Given the description of an element on the screen output the (x, y) to click on. 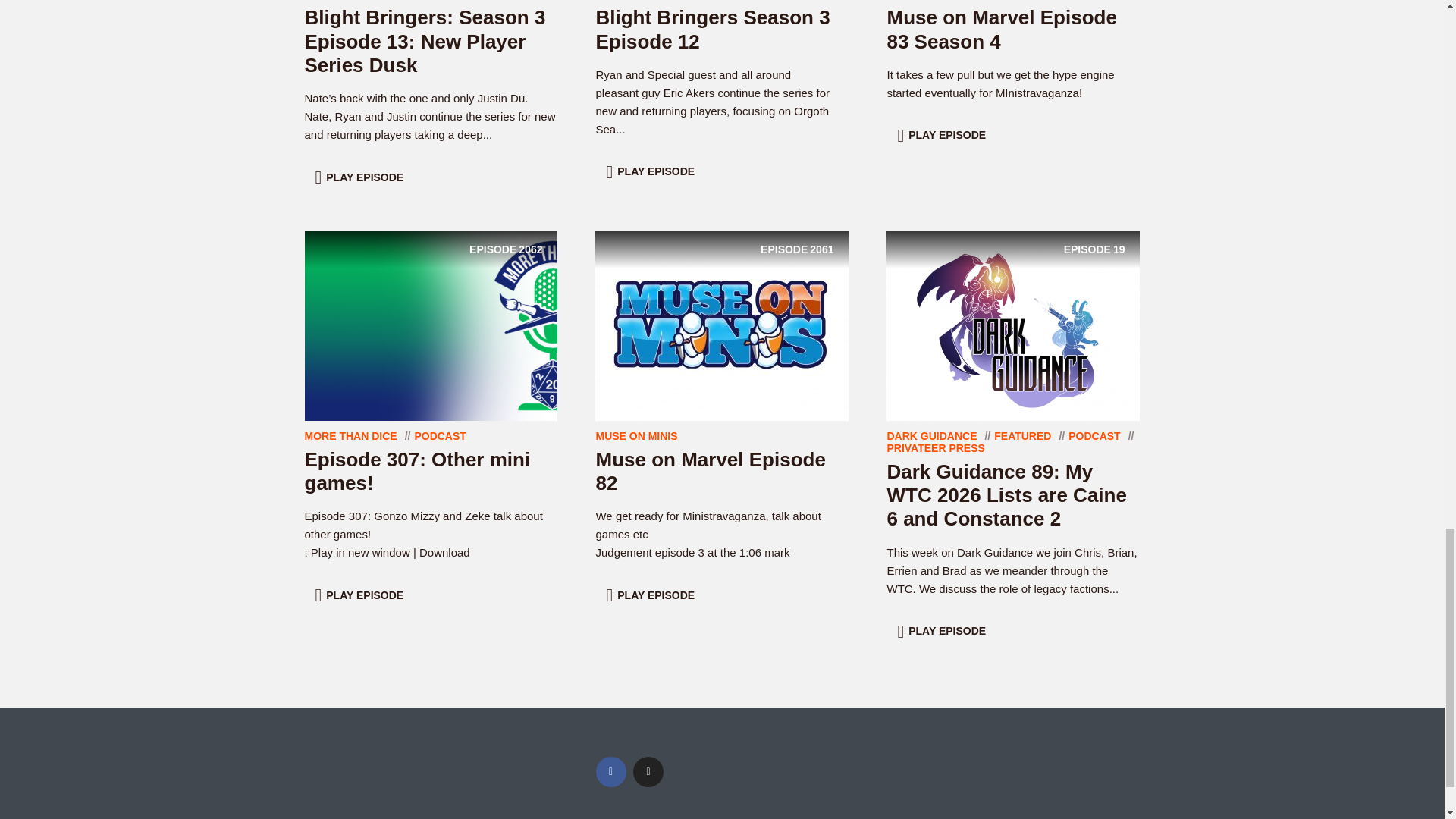
Facebook (610, 771)
